Given the description of an element on the screen output the (x, y) to click on. 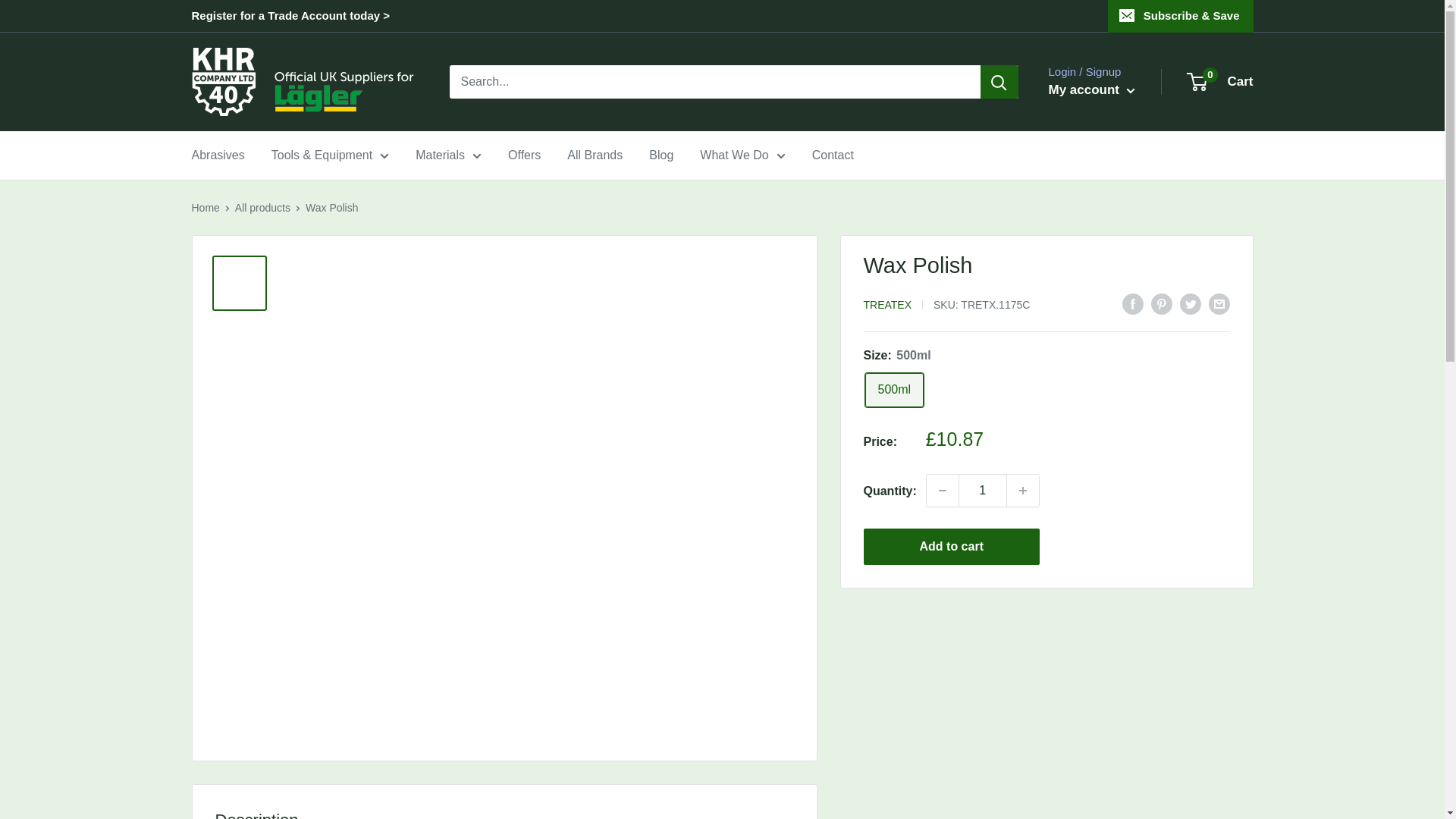
1 (982, 490)
Increase quantity by 1 (1023, 490)
500ml (893, 390)
Decrease quantity by 1 (942, 490)
